Given the description of an element on the screen output the (x, y) to click on. 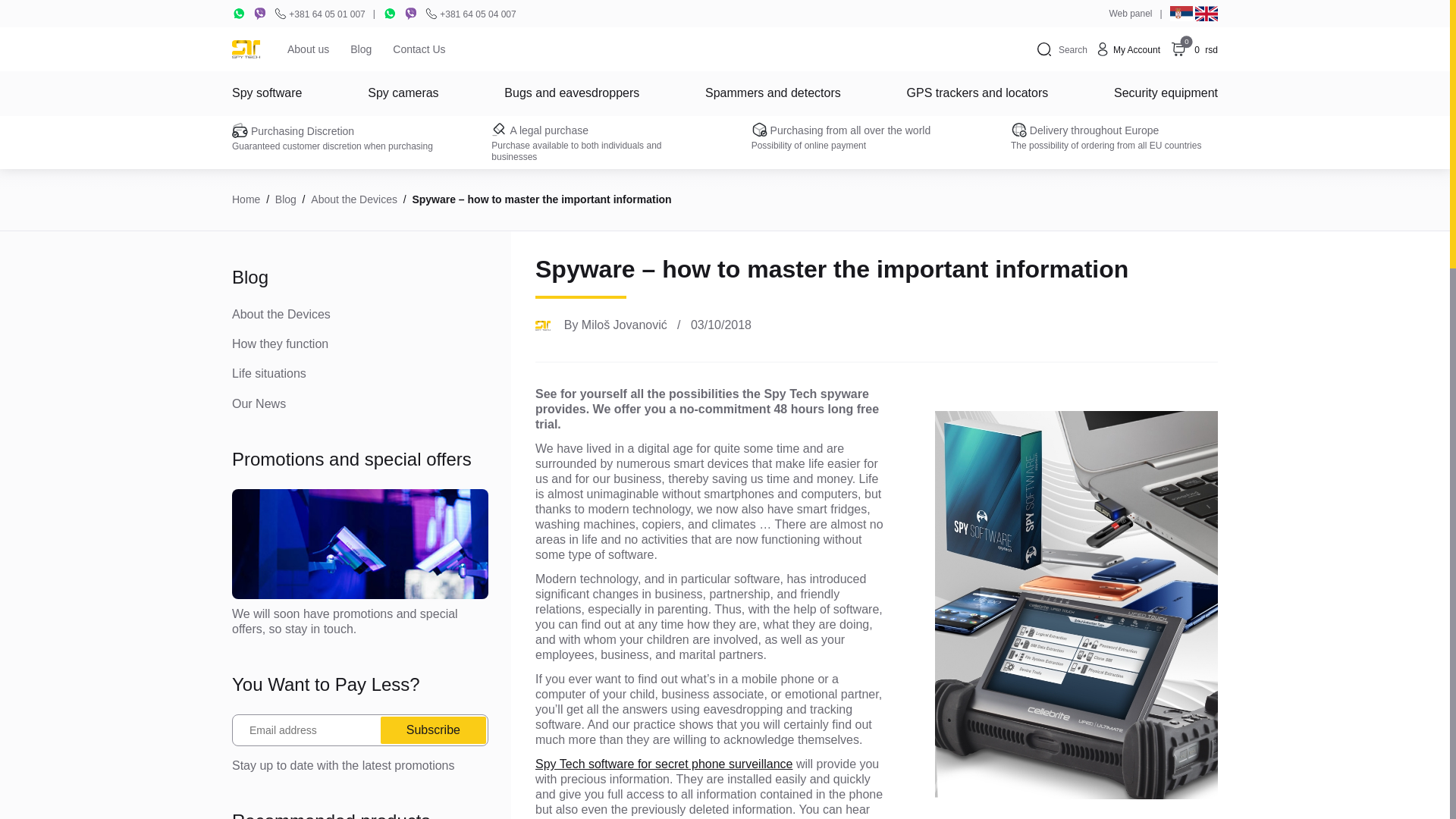
Contact Us (418, 49)
About us (307, 49)
SPYTECH (250, 50)
Subscribe (1192, 48)
Home (433, 728)
Blog (245, 199)
My Account (360, 49)
Web panel (1127, 48)
